Given the description of an element on the screen output the (x, y) to click on. 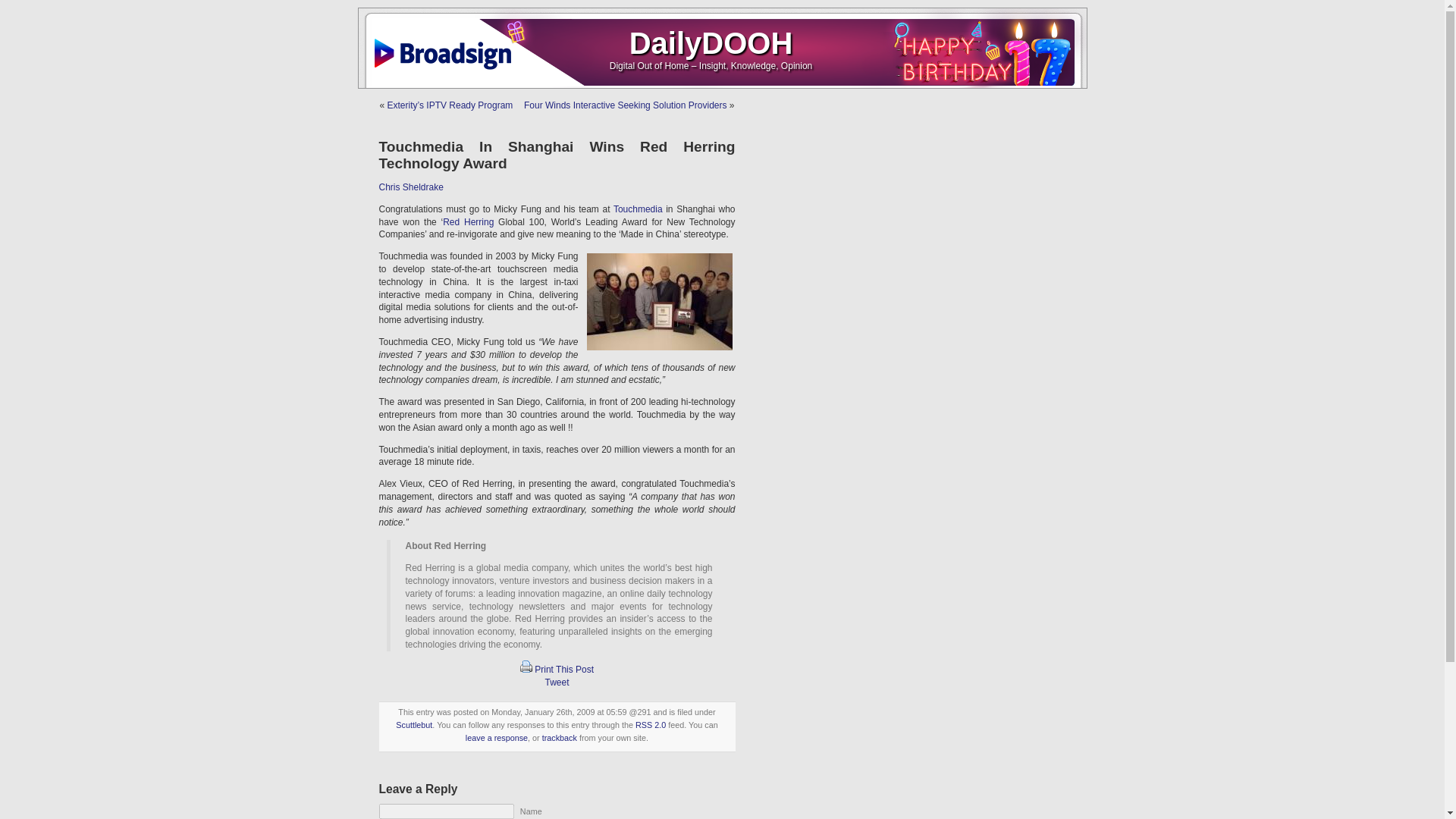
Touchmedia (637, 208)
Tweet (556, 681)
RSS 2.0 (649, 724)
Touchmedia In Shanghai Wins Red Herring Technology Award (556, 154)
Print This Post (525, 669)
Four Winds Interactive Seeking Solution Providers (625, 104)
DailyDOOH (710, 42)
leave a response (496, 737)
